Given the description of an element on the screen output the (x, y) to click on. 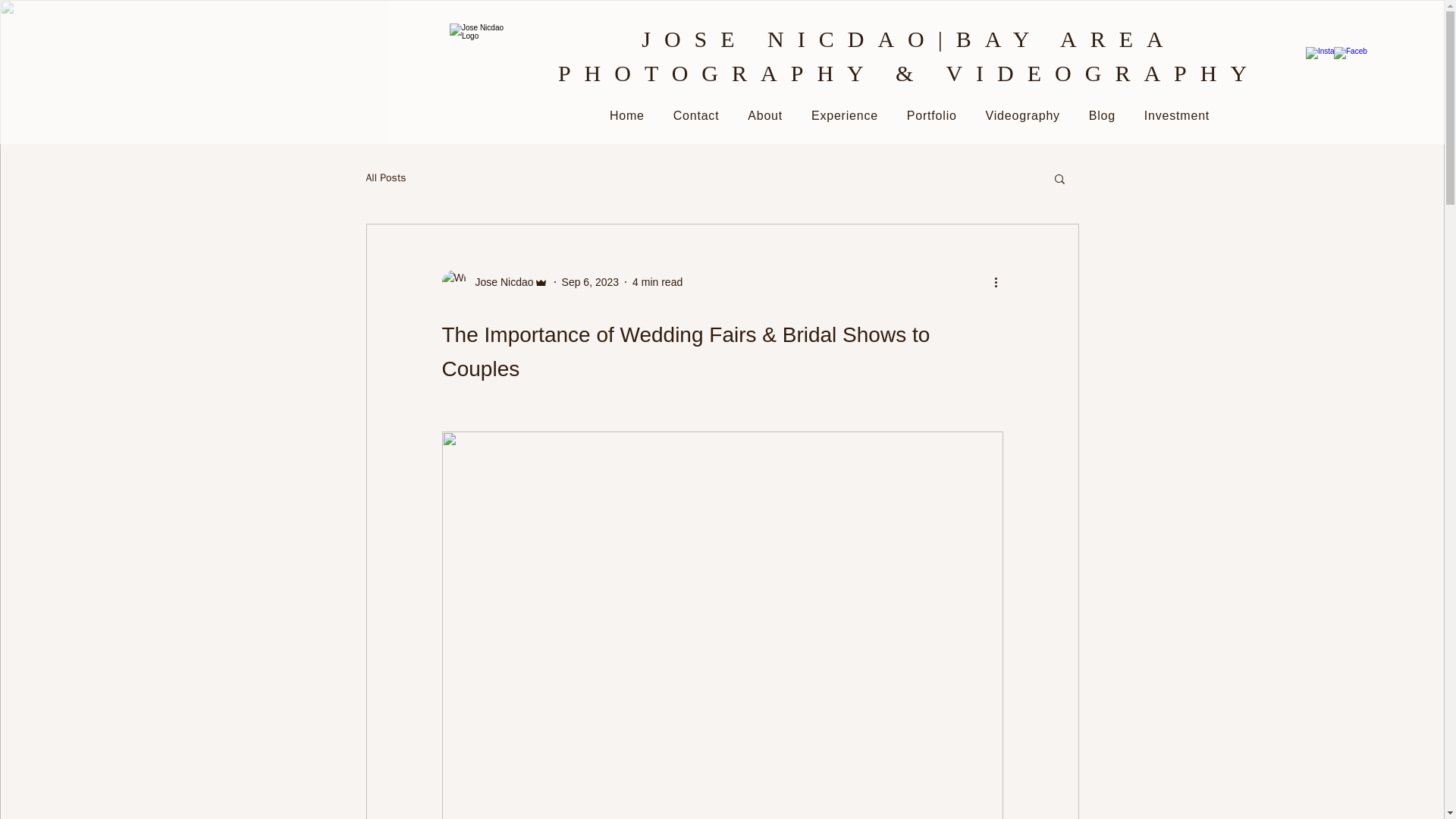
Jose Nicdao (498, 282)
All Posts (385, 178)
Home (627, 115)
Videography (1022, 115)
4 min read (656, 282)
Blog (1101, 115)
Portfolio (931, 115)
About (764, 115)
Sep 6, 2023 (591, 282)
Contact (696, 115)
